Given the description of an element on the screen output the (x, y) to click on. 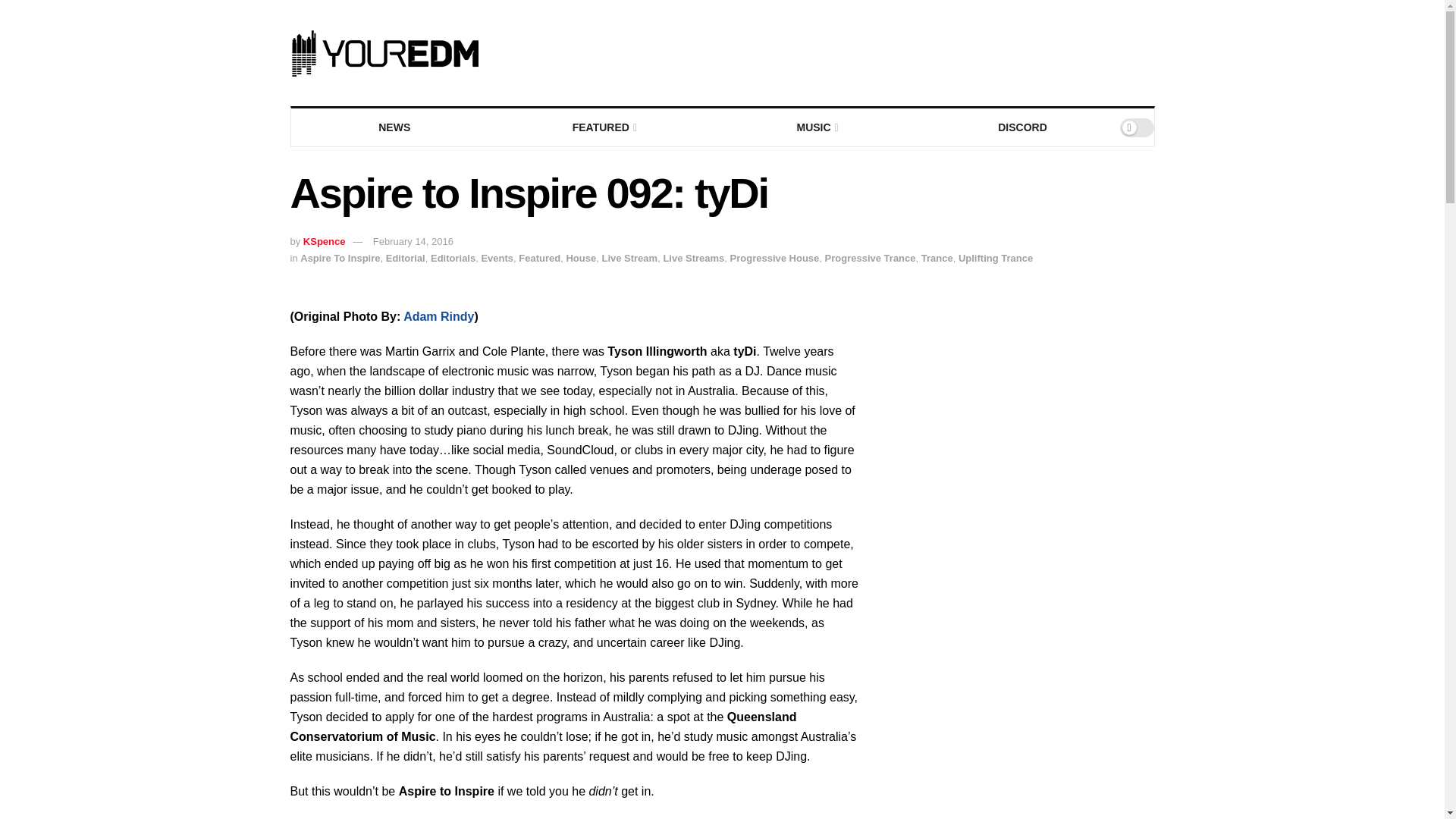
MUSIC (815, 127)
FEATURED (603, 127)
DISCORD (1021, 127)
NEWS (394, 127)
